Given the description of an element on the screen output the (x, y) to click on. 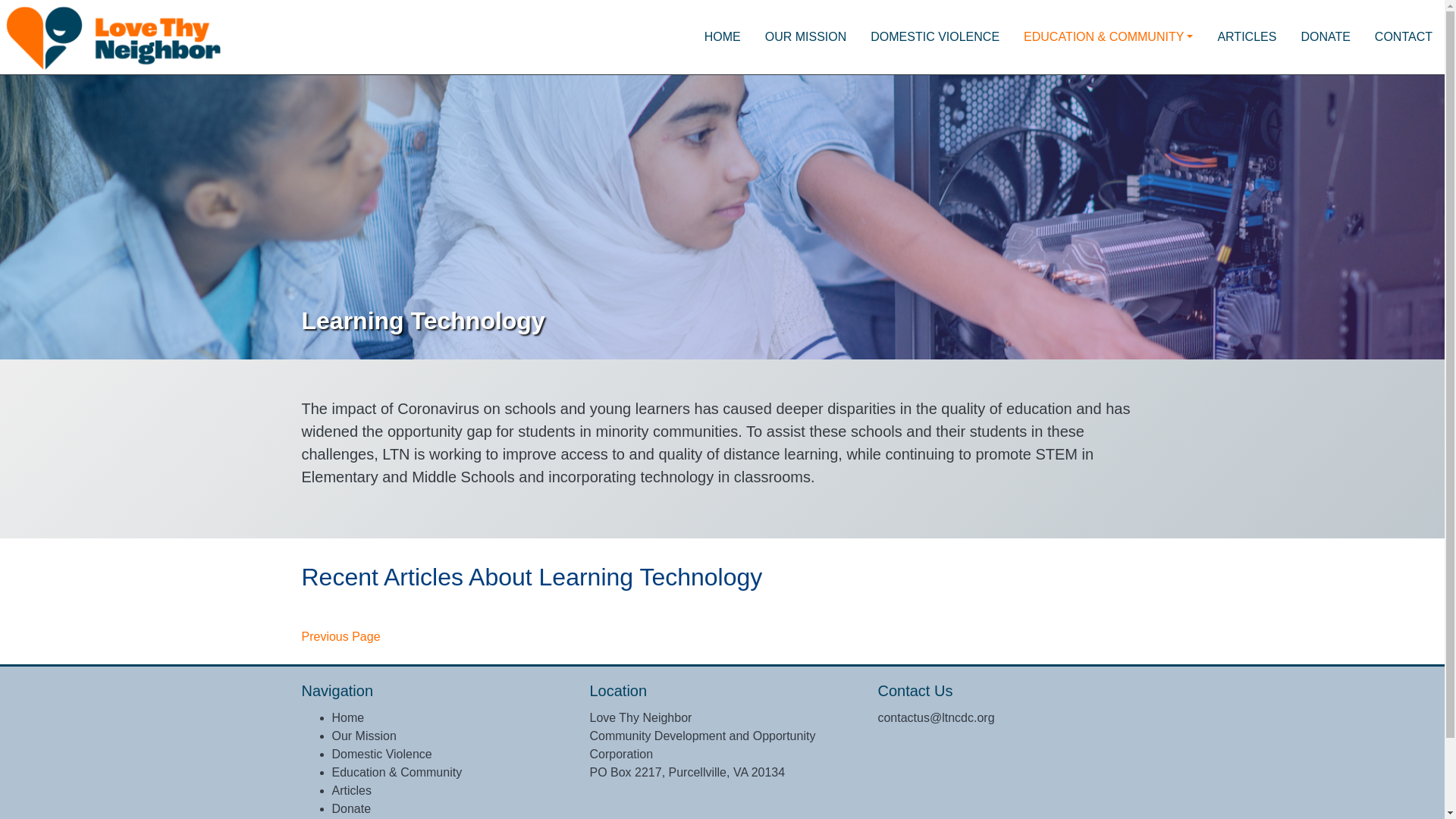
DONATE (1324, 37)
Donate (351, 808)
Domestic Violence (381, 753)
Home (348, 717)
Our Mission (363, 735)
Love Thy Neighbor (113, 35)
Previous Page (340, 637)
HOME (722, 37)
DOMESTIC VIOLENCE (935, 37)
ARTICLES (1246, 37)
